Given the description of an element on the screen output the (x, y) to click on. 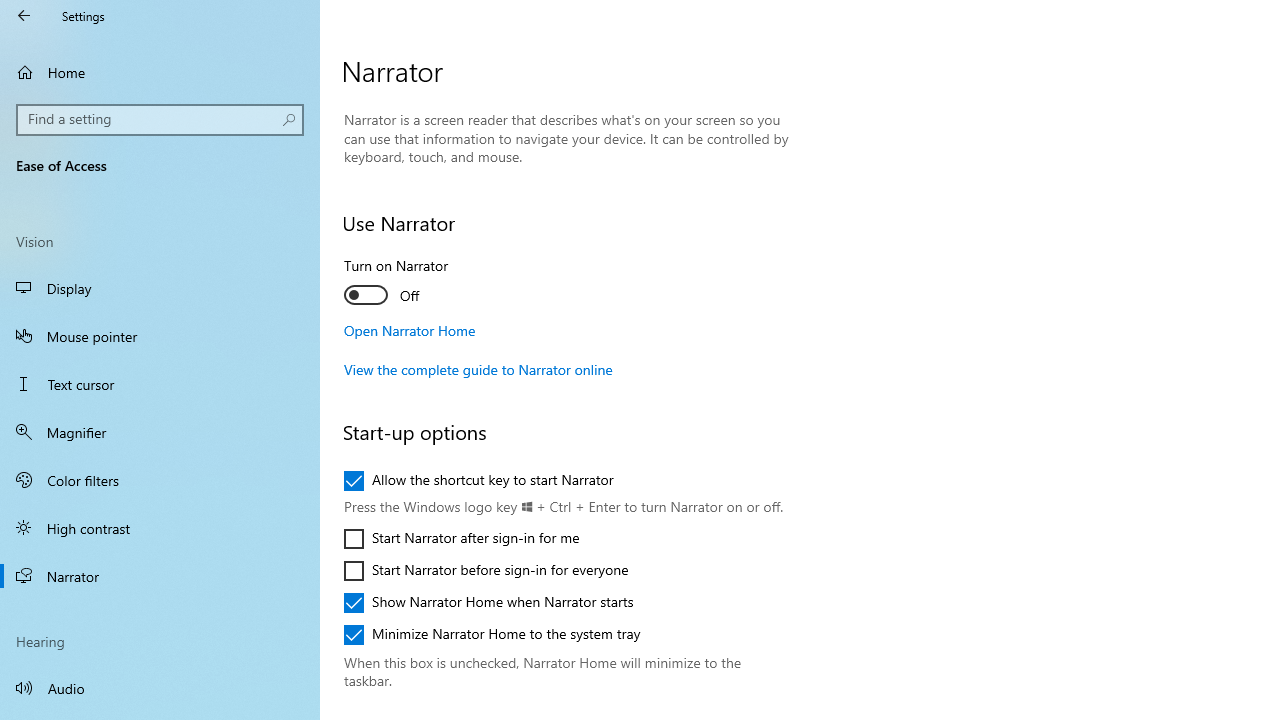
Home (160, 71)
Turn on Narrator (417, 283)
Show Narrator Home when Narrator starts (488, 602)
Search box, Find a setting (160, 119)
Mouse pointer (160, 335)
Start Narrator after sign-in for me (461, 538)
Audio (160, 687)
Open Narrator Home (410, 330)
Narrator (160, 575)
View the complete guide to Narrator online (478, 369)
Back (24, 15)
Text cursor (160, 384)
Display (160, 287)
Allow the shortcut key to start Narrator (479, 480)
Color filters (160, 479)
